Given the description of an element on the screen output the (x, y) to click on. 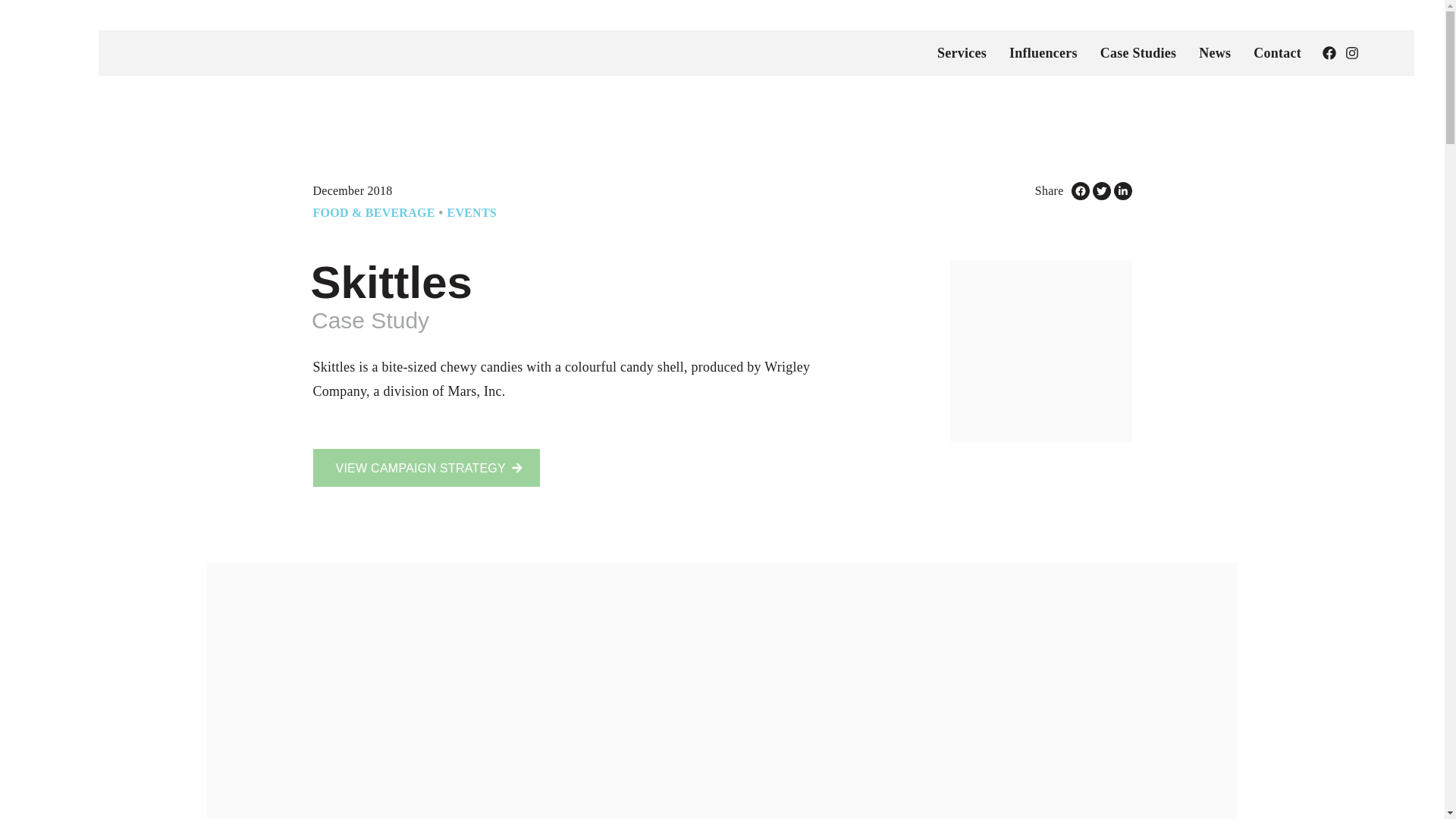
EVENTS (471, 212)
VIEW CAMPAIGN STRATEGY (425, 467)
Peersway: Inspire Millions With Nano Influencers (224, 52)
Influencers (1043, 53)
Services (962, 53)
Skittles Logo (1040, 351)
Contact (1277, 53)
Peersway: Inspire Millions With Nano Influencers (53, 53)
Case Studies (1138, 53)
